Given the description of an element on the screen output the (x, y) to click on. 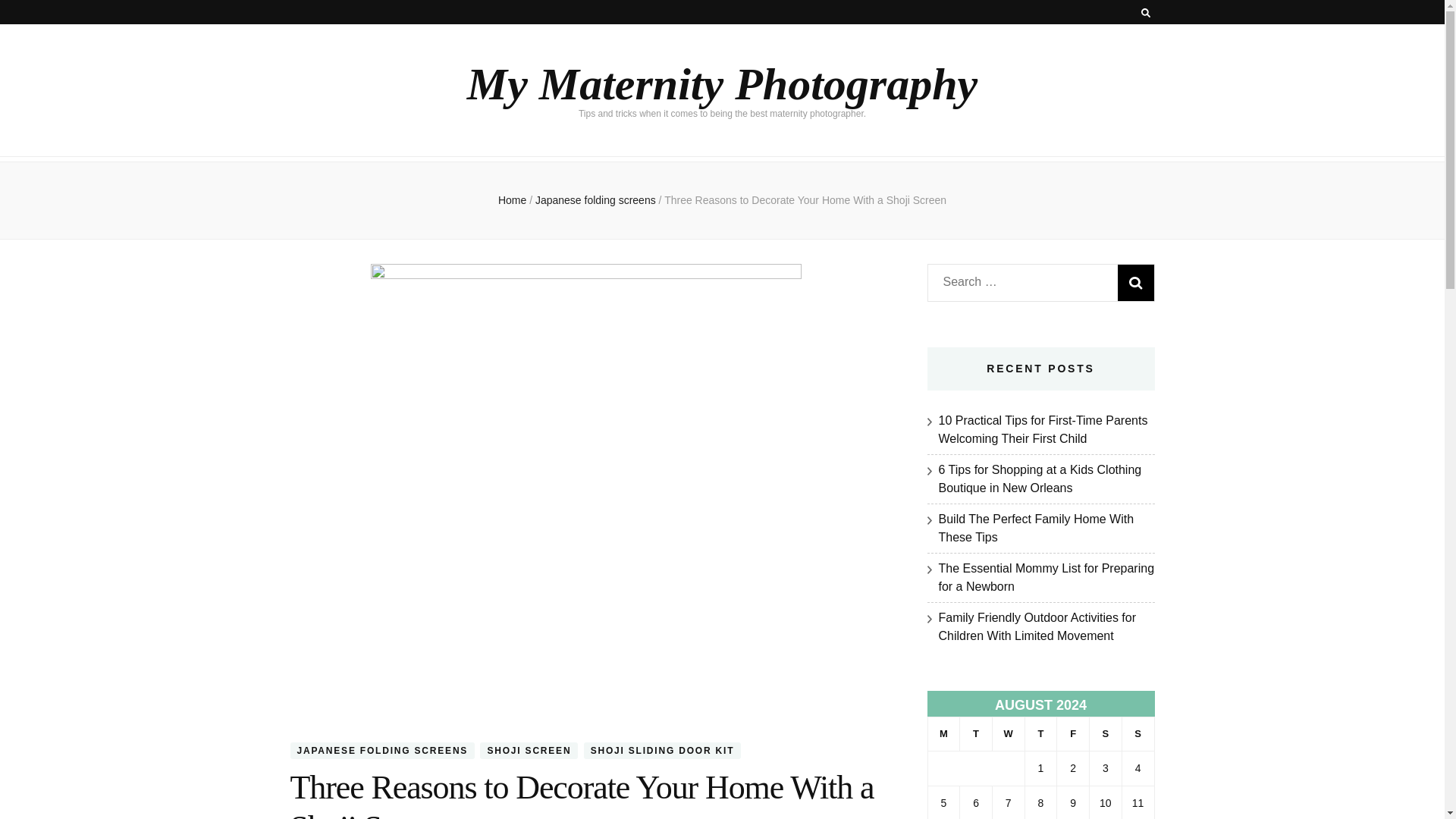
The Essential Mommy List for Preparing for a Newborn (1046, 576)
My Maternity Photography (721, 83)
Search (1136, 282)
JAPANESE FOLDING SCREENS (381, 750)
Home (511, 200)
Build The Perfect Family Home With These Tips (1036, 527)
SHOJI SCREEN (529, 750)
Friday (1073, 734)
Three Reasons to Decorate Your Home With a Shoji Screen (804, 200)
Thursday (1041, 734)
Tuesday (975, 734)
Search (1136, 282)
